Given the description of an element on the screen output the (x, y) to click on. 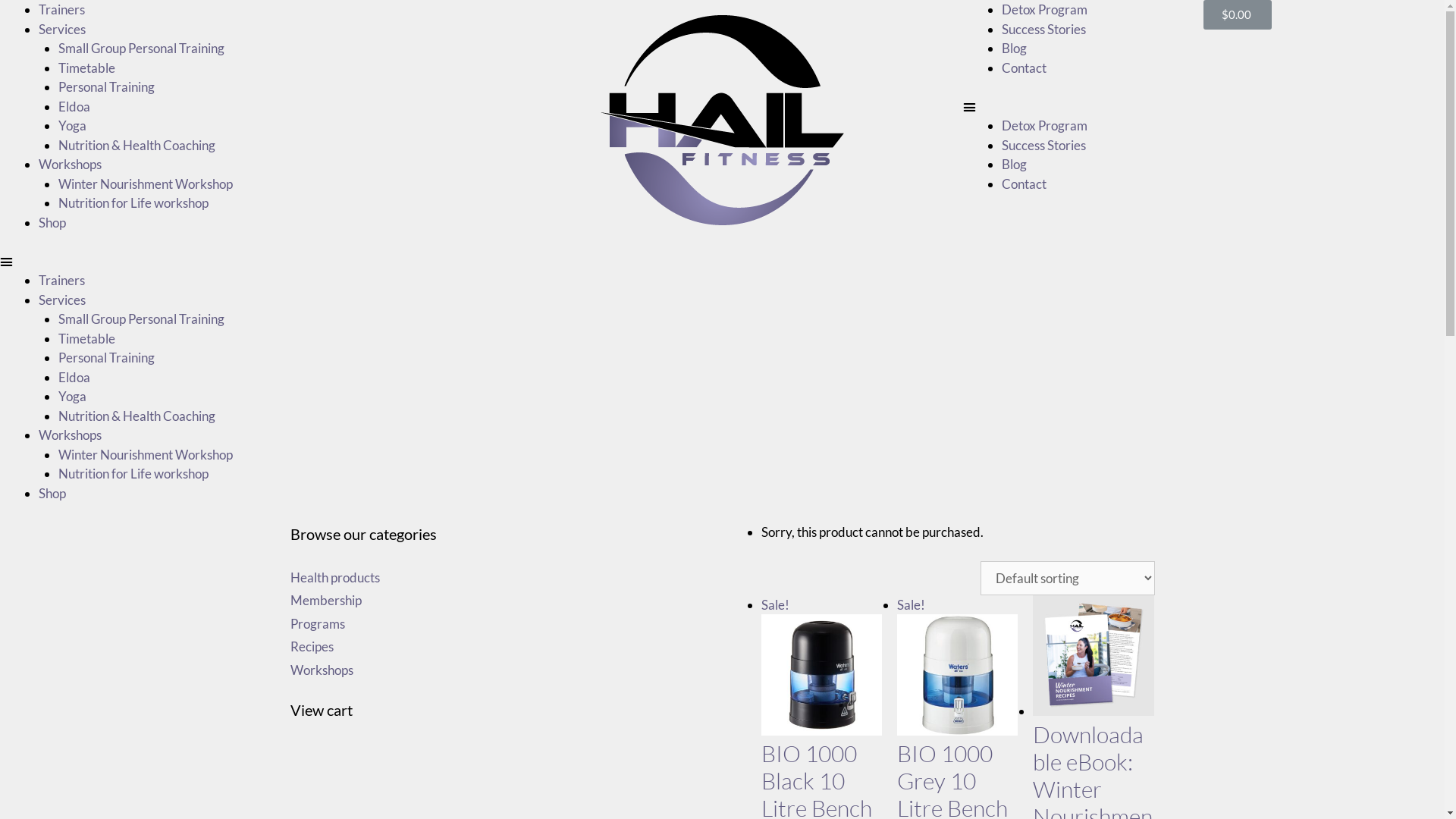
Programs Element type: text (316, 623)
Timetable Element type: text (85, 338)
Eldoa Element type: text (73, 376)
Success Stories Element type: text (1043, 29)
Services Element type: text (61, 29)
Yoga Element type: text (71, 125)
Shop Element type: text (51, 493)
Timetable Element type: text (85, 67)
Detox Program Element type: text (1044, 125)
Winter Nourishment Workshop Element type: text (144, 453)
Health products Element type: text (334, 576)
Success Stories Element type: text (1043, 144)
Nutrition for Life workshop Element type: text (132, 202)
Eldoa Element type: text (73, 106)
Services Element type: text (61, 299)
Trainers Element type: text (61, 9)
Small Group Personal Training Element type: text (140, 318)
Nutrition for Life workshop Element type: text (132, 473)
Workshops Element type: text (69, 164)
Blog Element type: text (1013, 48)
Trainers Element type: text (61, 280)
Workshops Element type: text (320, 669)
Personal Training Element type: text (105, 357)
Blog Element type: text (1013, 164)
Small Group Personal Training Element type: text (140, 48)
Recipes Element type: text (310, 646)
Nutrition & Health Coaching Element type: text (135, 415)
Contact Element type: text (1023, 183)
Contact Element type: text (1023, 67)
Workshops Element type: text (69, 434)
Nutrition & Health Coaching Element type: text (135, 144)
Personal Training Element type: text (105, 86)
Winter Nourishment Workshop Element type: text (144, 183)
Yoga Element type: text (71, 396)
$0.00 Element type: text (1237, 14)
Detox Program Element type: text (1044, 9)
Shop Element type: text (51, 221)
Membership Element type: text (324, 600)
